Given the description of an element on the screen output the (x, y) to click on. 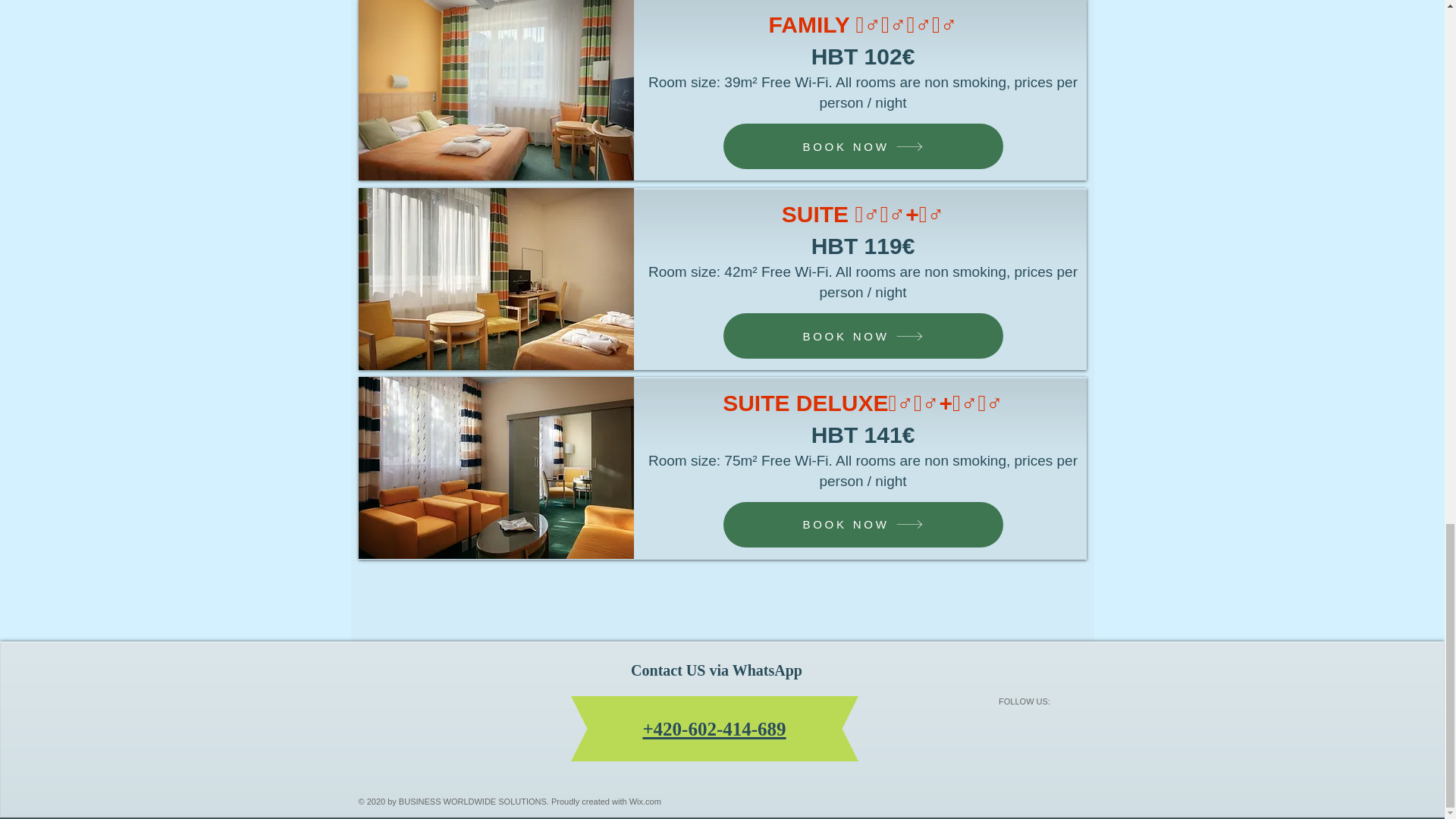
BOOK NOW (863, 145)
BOOK NOW (863, 524)
BOOK NOW (863, 335)
